Given the description of an element on the screen output the (x, y) to click on. 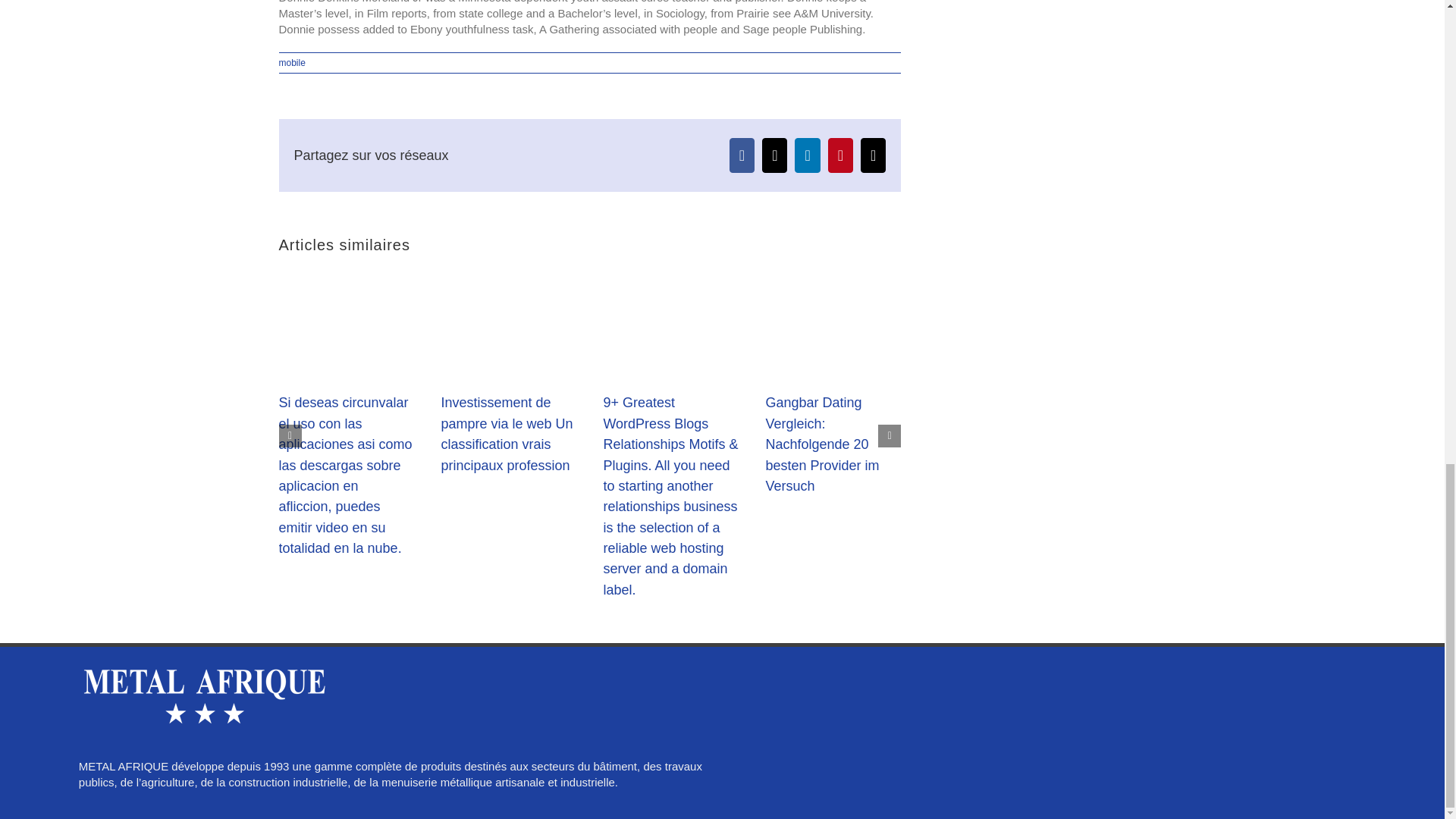
mobile (292, 62)
